Given the description of an element on the screen output the (x, y) to click on. 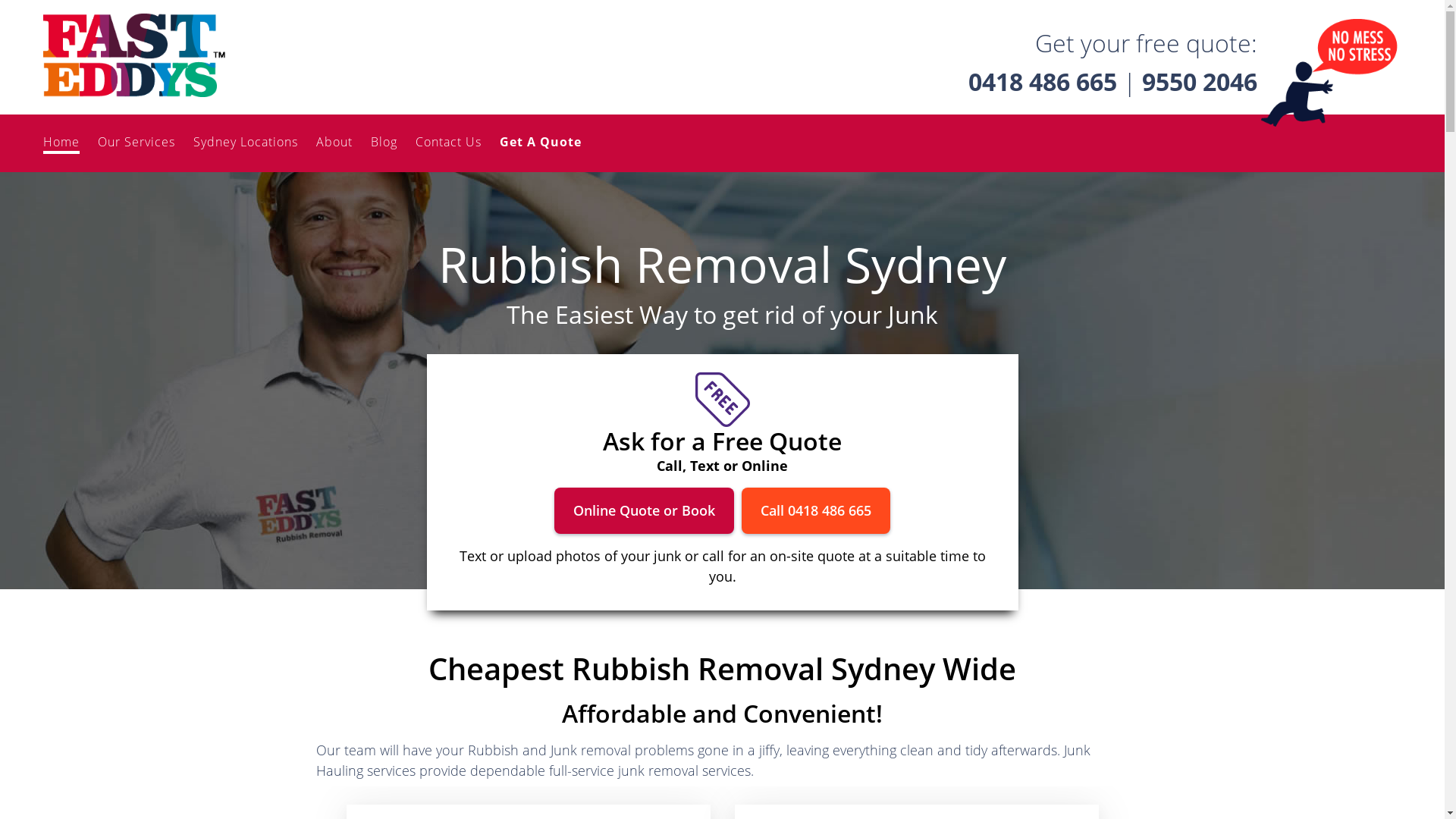
Call 0418 486 665 Element type: text (815, 510)
Contact Us Element type: text (448, 141)
Home Element type: text (61, 142)
Online Quote or Book Element type: text (644, 510)
Blog Element type: text (383, 141)
Get A Quote Element type: text (540, 141)
